Given the description of an element on the screen output the (x, y) to click on. 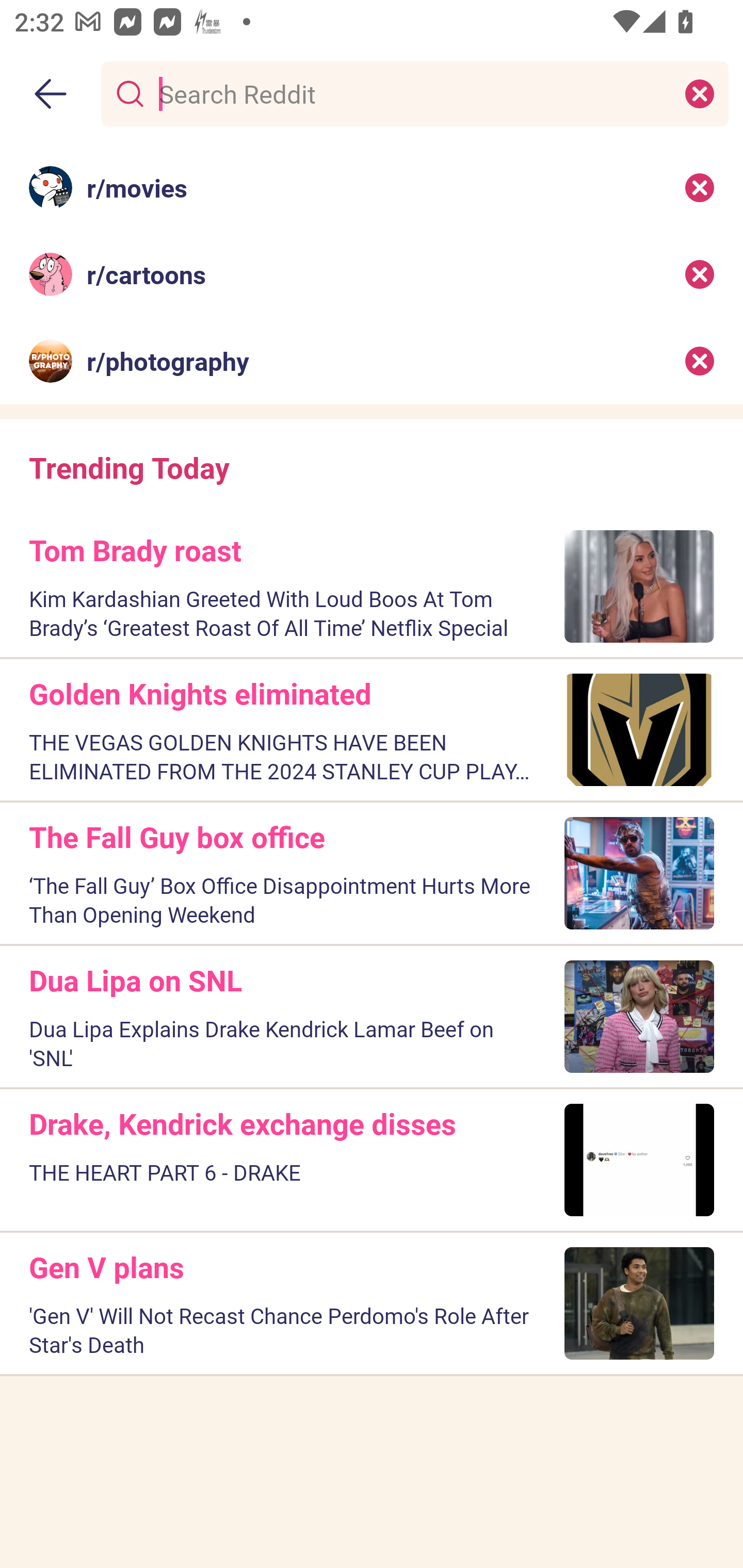
Back (50, 93)
Search Reddit (410, 93)
Clear search (699, 93)
r/movies Recent search: r/movies Remove (371, 187)
Remove (699, 187)
r/cartoons Recent search: r/cartoons Remove (371, 274)
Remove (699, 274)
r/photography Recent search: r/photography Remove (371, 361)
Remove (699, 361)
